Given the description of an element on the screen output the (x, y) to click on. 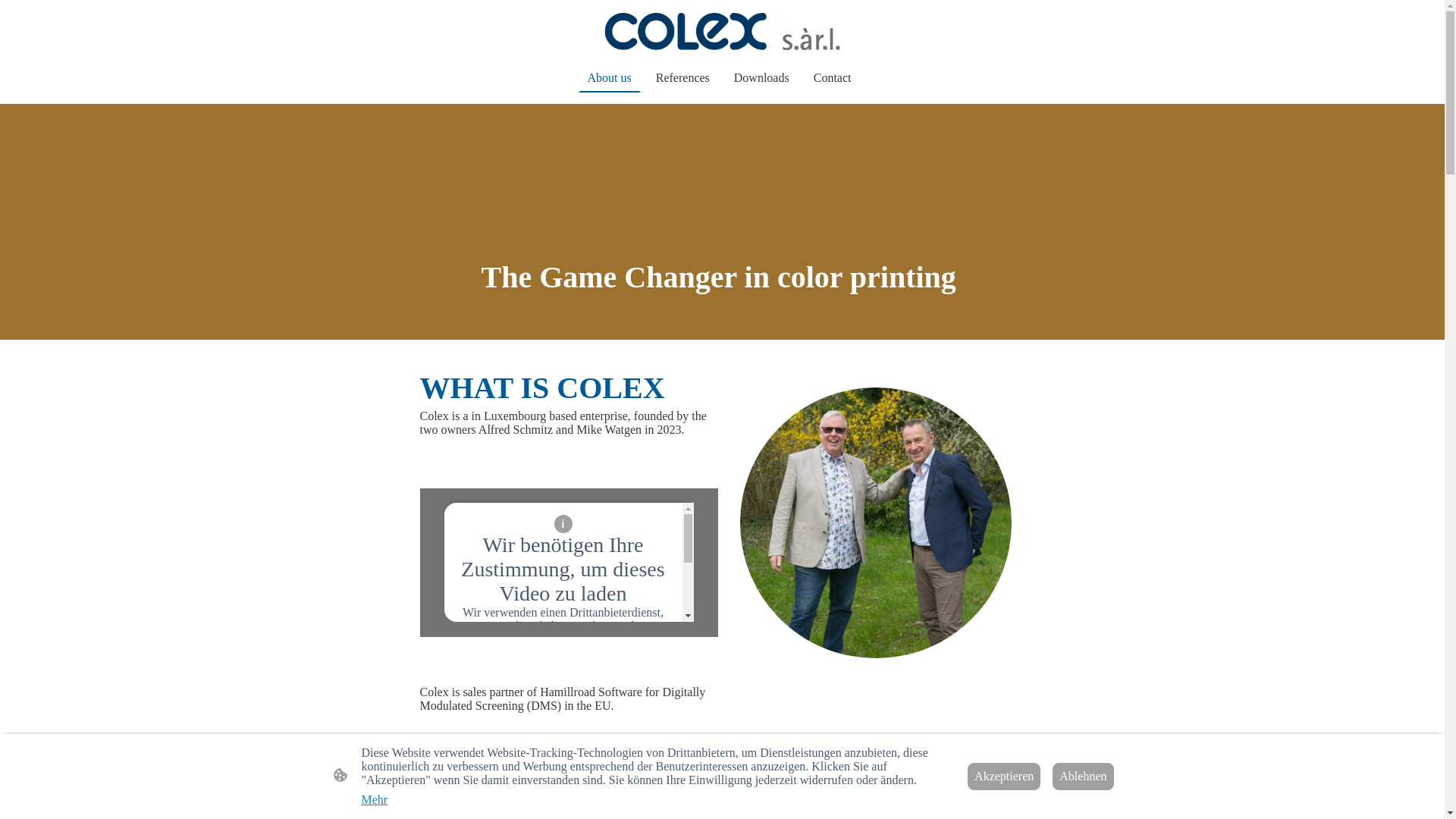
Contact (832, 77)
Downloads (761, 77)
Mehr (374, 799)
Akzeptieren (1004, 776)
References (682, 77)
Ablehnen (1082, 776)
Akzeptieren (561, 707)
About us (609, 77)
